Given the description of an element on the screen output the (x, y) to click on. 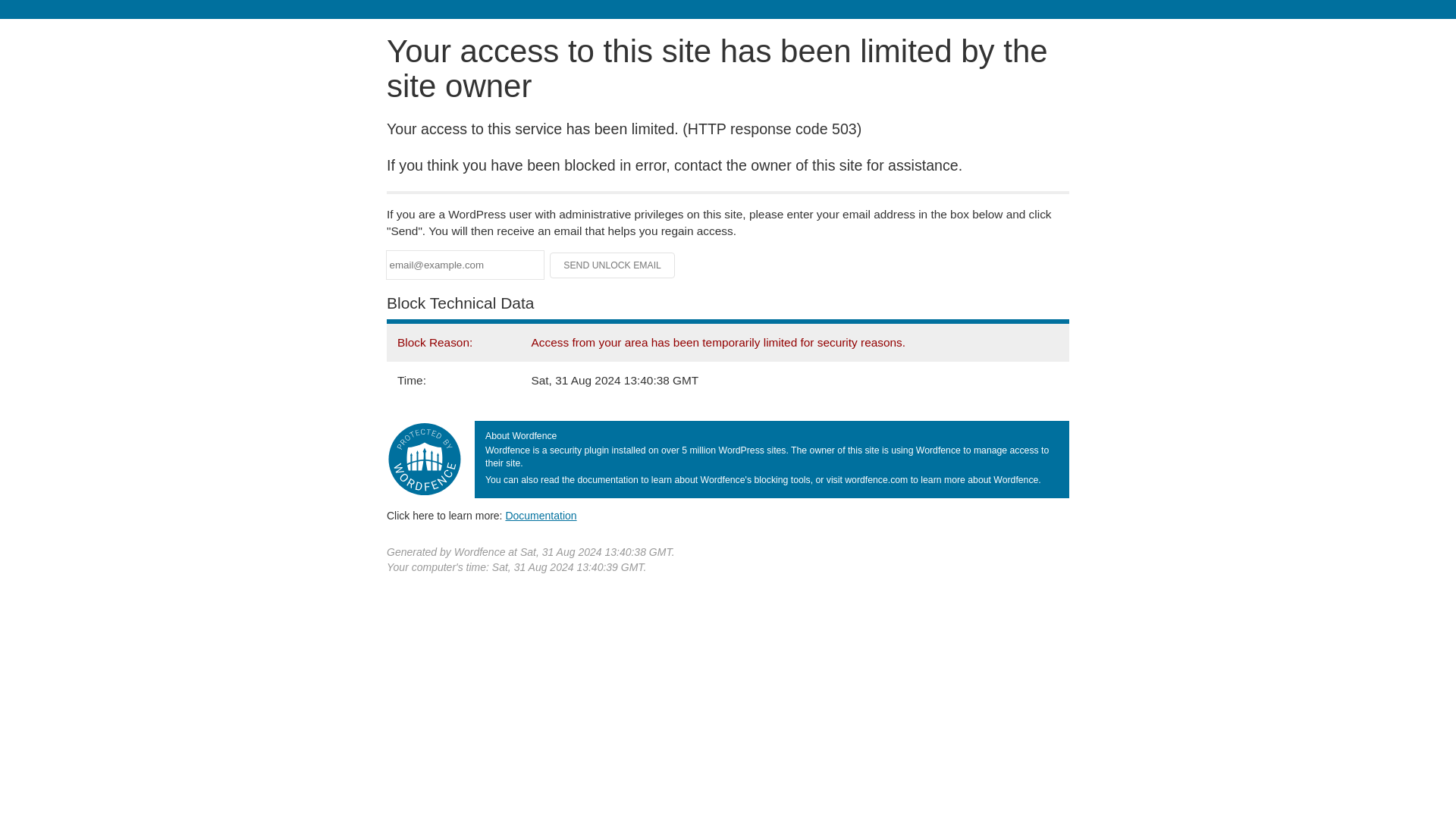
Documentation (540, 515)
Send Unlock Email (612, 265)
Send Unlock Email (612, 265)
